Given the description of an element on the screen output the (x, y) to click on. 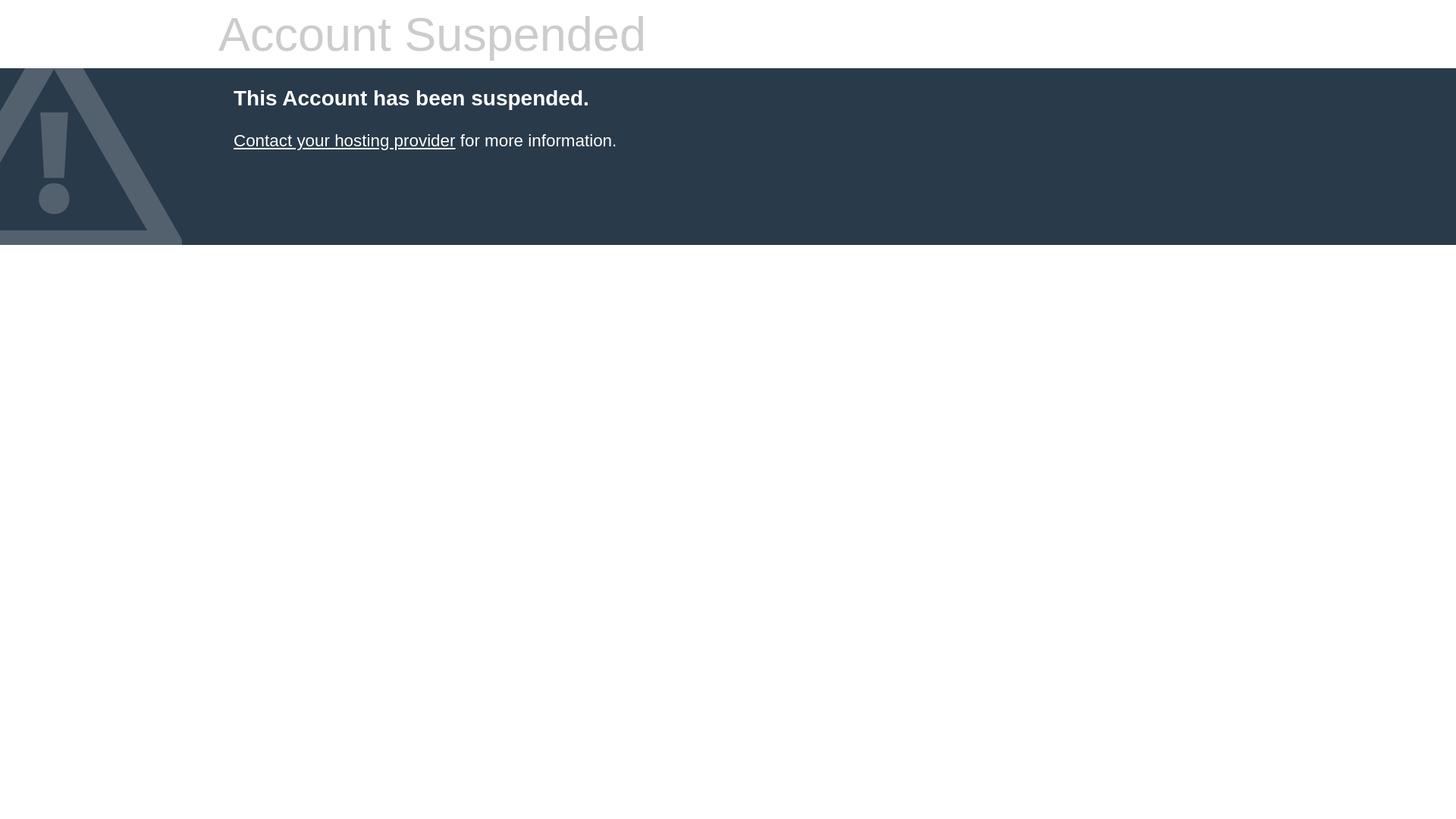
Contact your hosting provider Element type: text (344, 140)
